Given the description of an element on the screen output the (x, y) to click on. 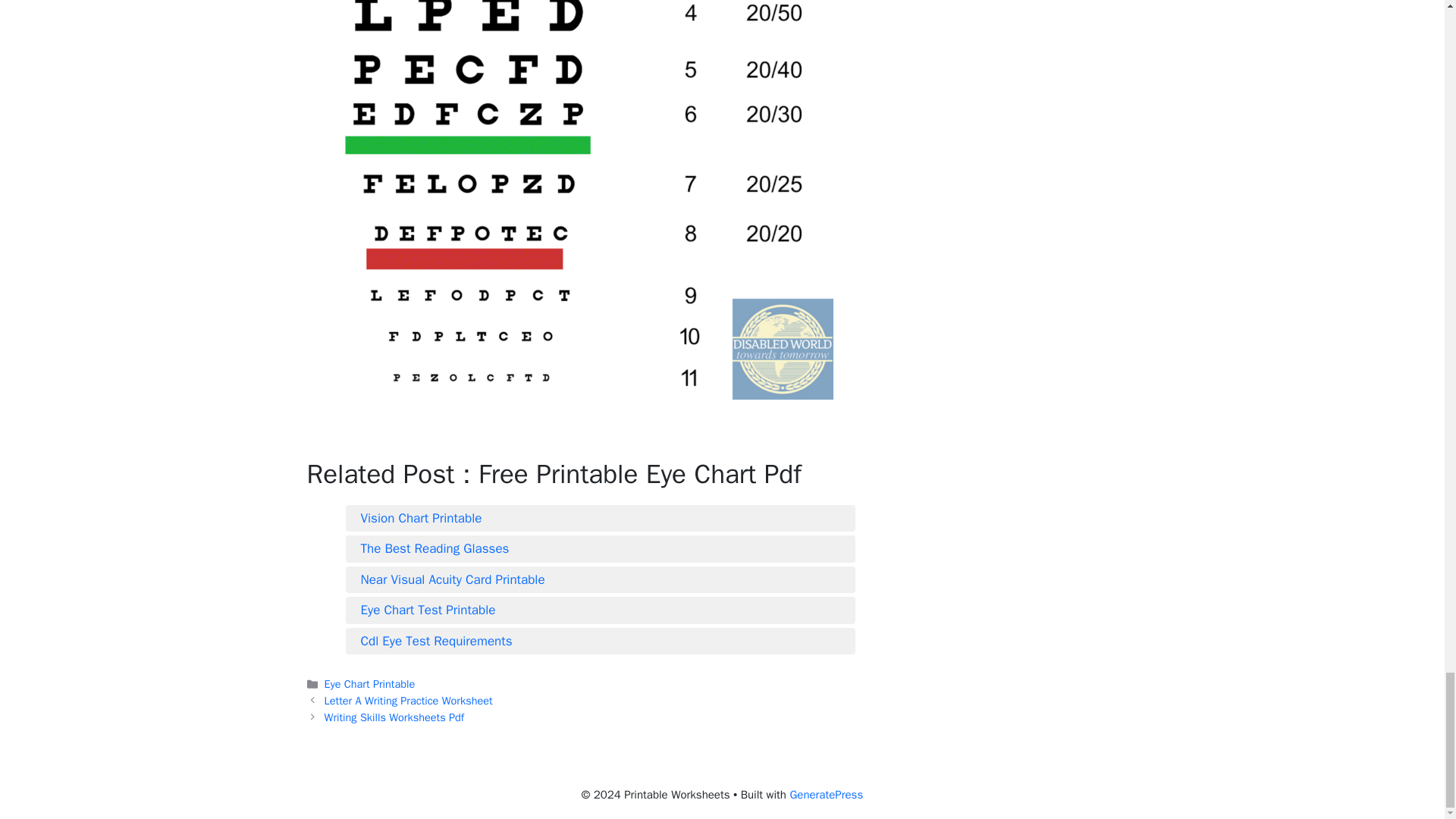
Vision Chart Printable (600, 517)
Near Visual Acuity Card Printable (600, 579)
Eye Chart Printable (369, 684)
Eye Chart Test Printable (600, 609)
GeneratePress (826, 794)
Cdl Eye Test Requirements (600, 640)
The Best Reading Glasses (600, 548)
Writing Skills Worksheets Pdf (394, 716)
Letter A Writing Practice Worksheet (408, 700)
